Given the description of an element on the screen output the (x, y) to click on. 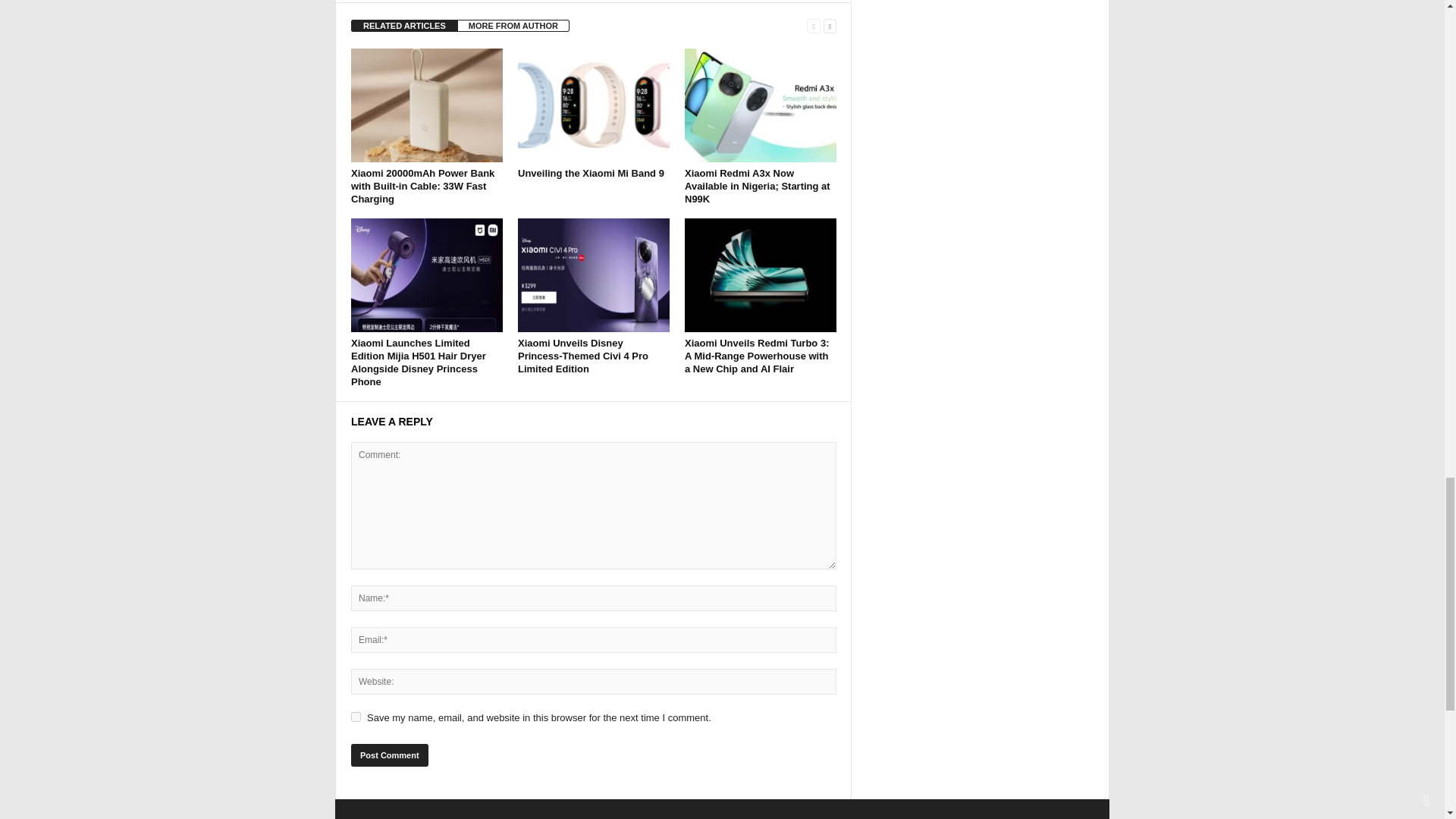
yes (355, 716)
Post Comment (389, 754)
